Given the description of an element on the screen output the (x, y) to click on. 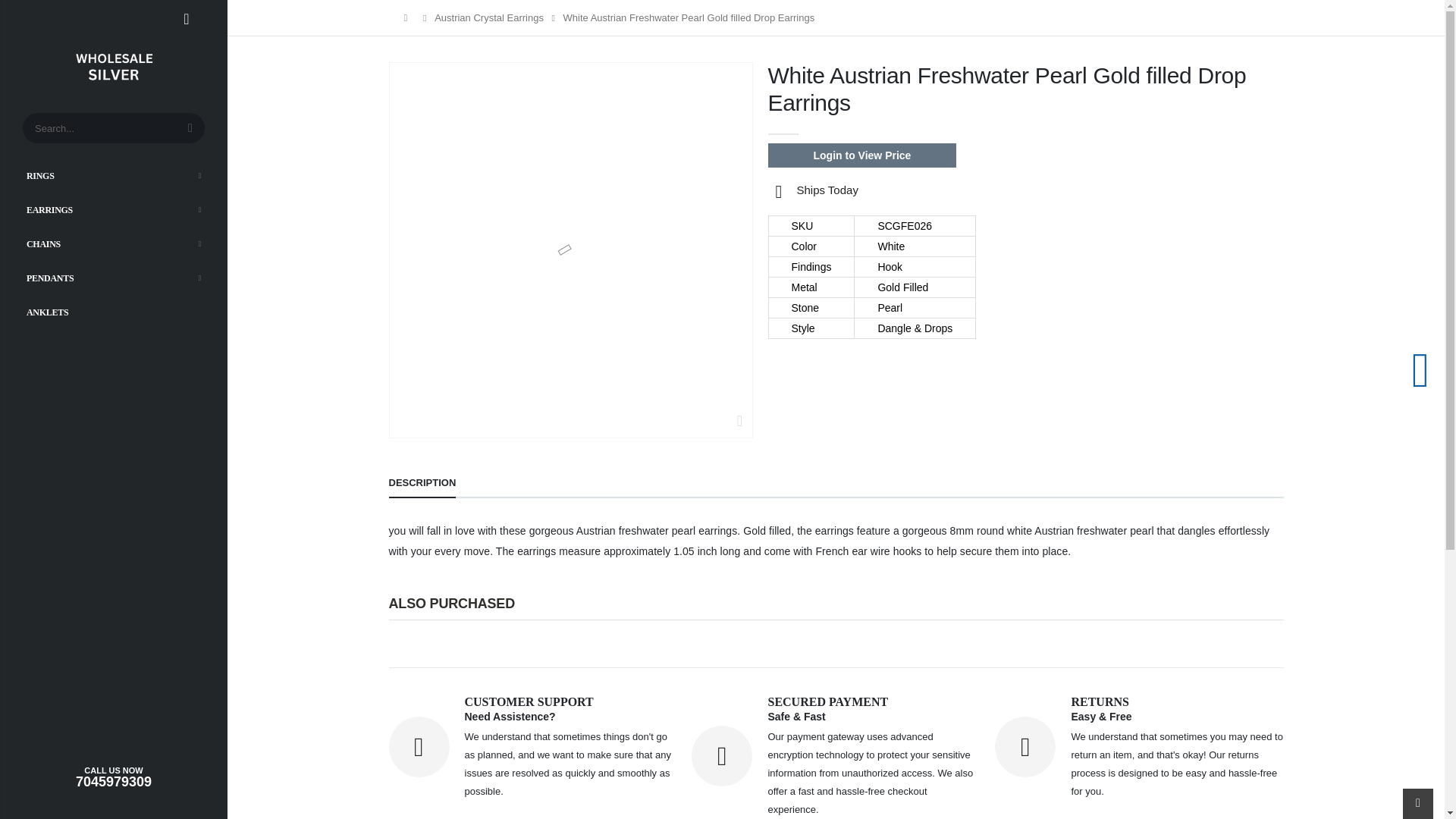
PENDANTS (114, 277)
EARRINGS (114, 209)
ANKLETS (114, 311)
CHAINS (114, 243)
RINGS (114, 174)
Search (190, 128)
